Given the description of an element on the screen output the (x, y) to click on. 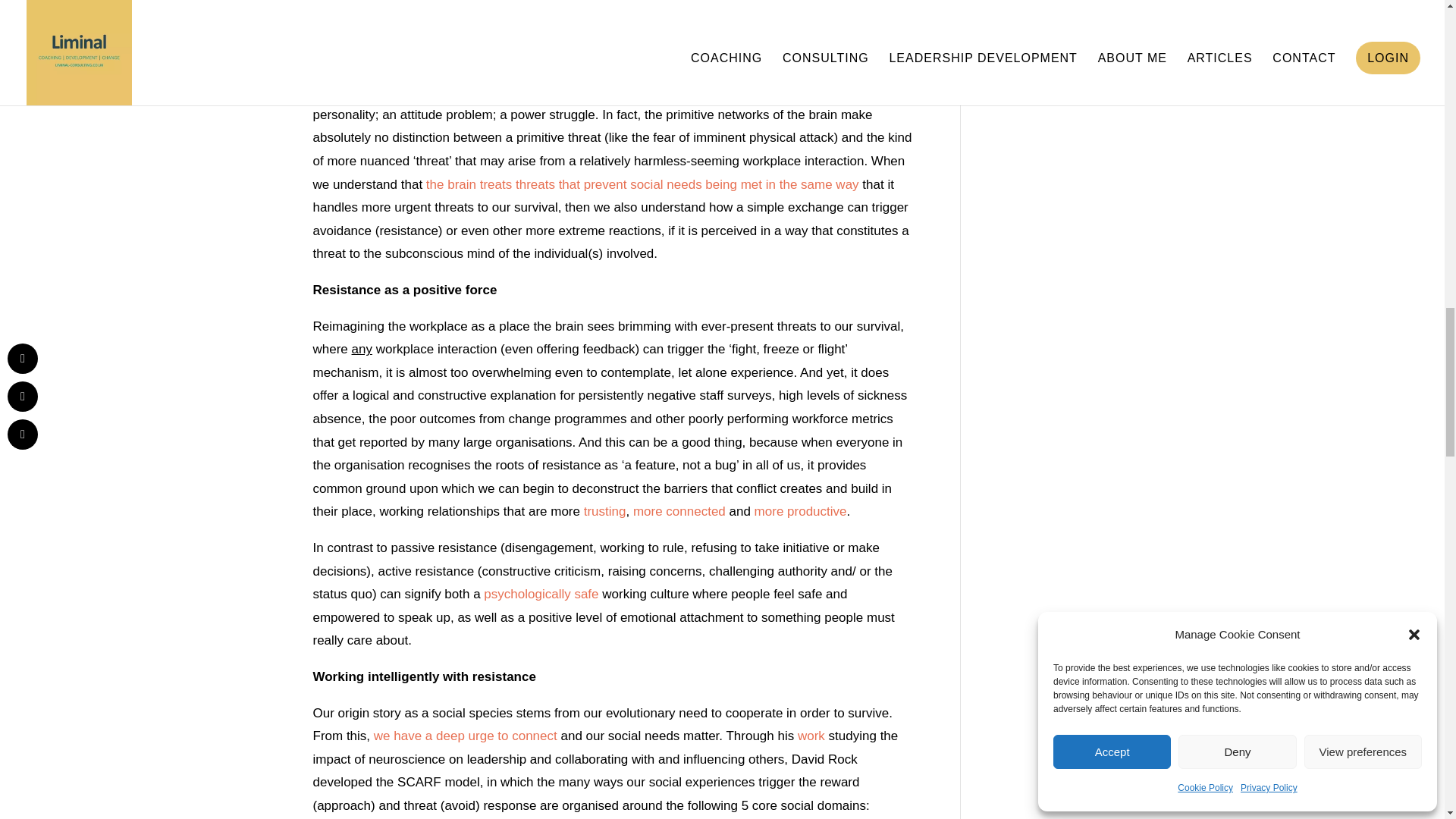
more connected (679, 511)
self-protection measures (435, 8)
more productive (800, 511)
trusting (604, 511)
